Given the description of an element on the screen output the (x, y) to click on. 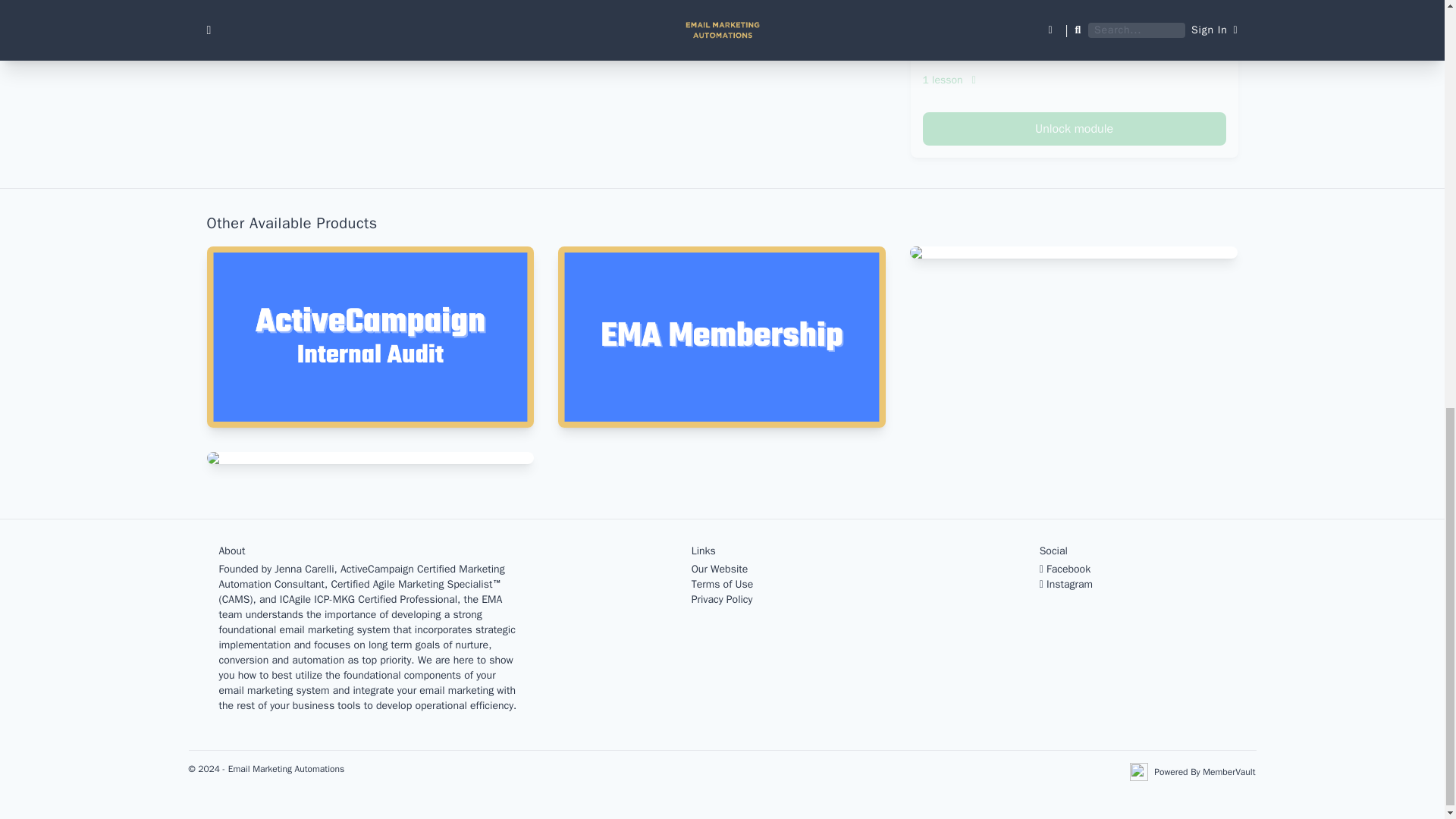
Unlock module (1074, 128)
Sign up (827, 32)
1 lesson (1074, 79)
